Given the description of an element on the screen output the (x, y) to click on. 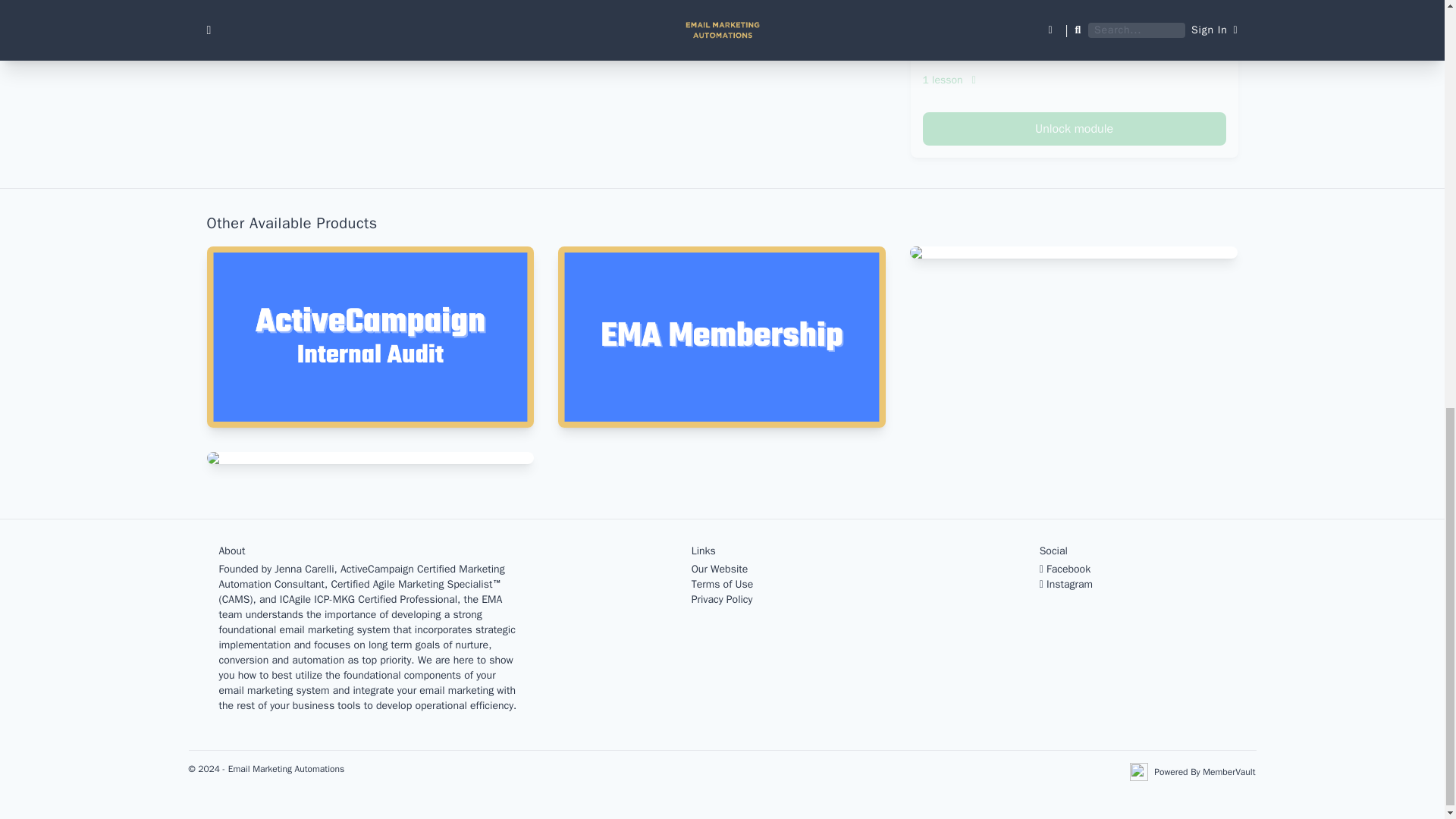
Unlock module (1074, 128)
Sign up (827, 32)
1 lesson (1074, 79)
